Given the description of an element on the screen output the (x, y) to click on. 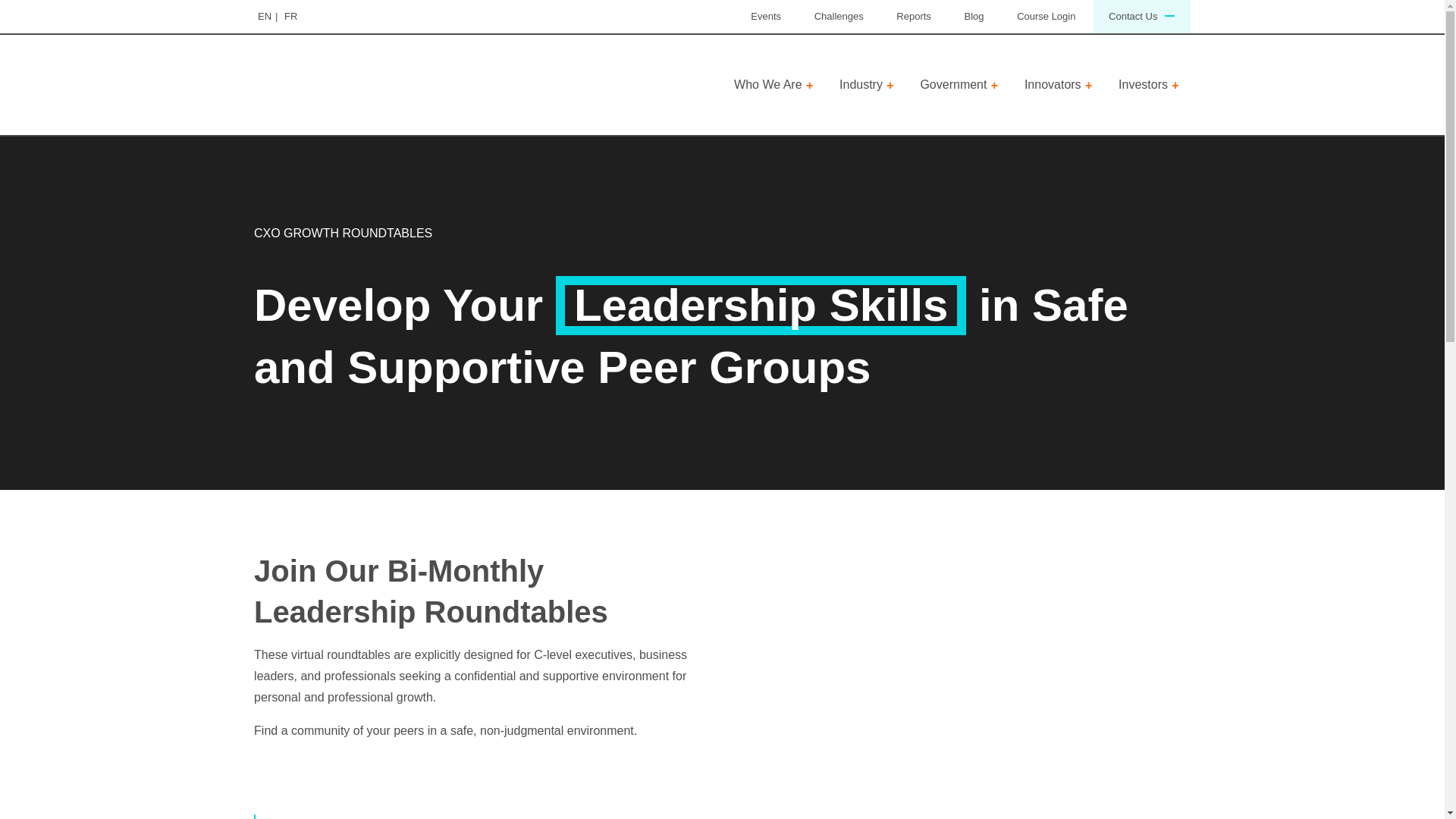
Who We Are (773, 84)
Foresight Ecosystem Events (765, 16)
Events (765, 16)
About Foresight (773, 84)
Contact Us (1142, 16)
Government (958, 84)
Foresight's Innovation Challenges (839, 16)
Course Login (1045, 16)
Innovators (1058, 84)
Challenges (839, 16)
Foresight client course login (1045, 16)
Blog (973, 16)
Foresight News (973, 16)
Reports (913, 16)
Industry (866, 84)
